Given the description of an element on the screen output the (x, y) to click on. 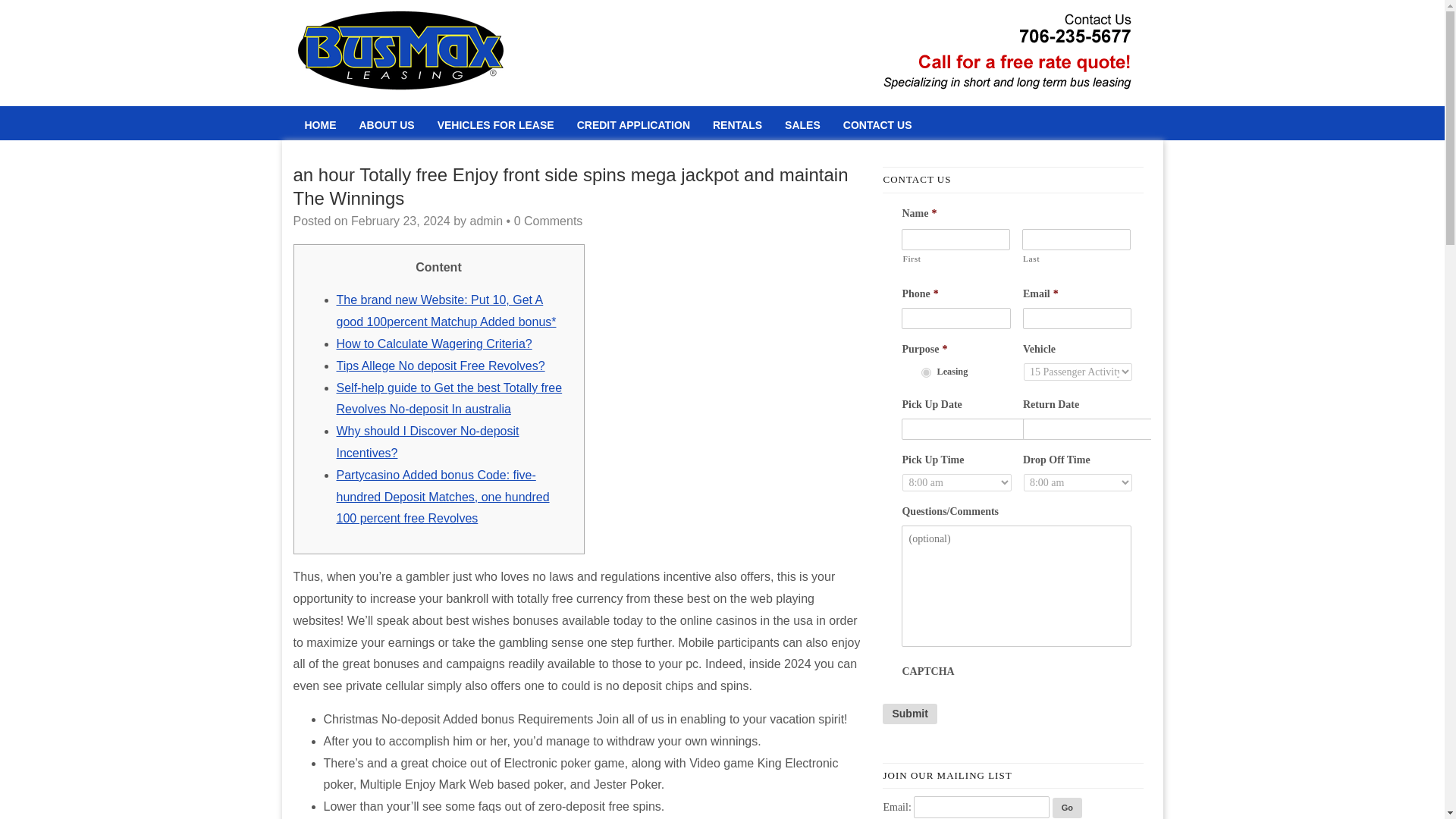
Leasing (926, 372)
View all posts by admin (486, 220)
How to Calculate Wagering Criteria? (434, 343)
Go (1066, 807)
ABOUT US (386, 124)
admin (486, 220)
HOME (319, 124)
SALES (802, 124)
